Given the description of an element on the screen output the (x, y) to click on. 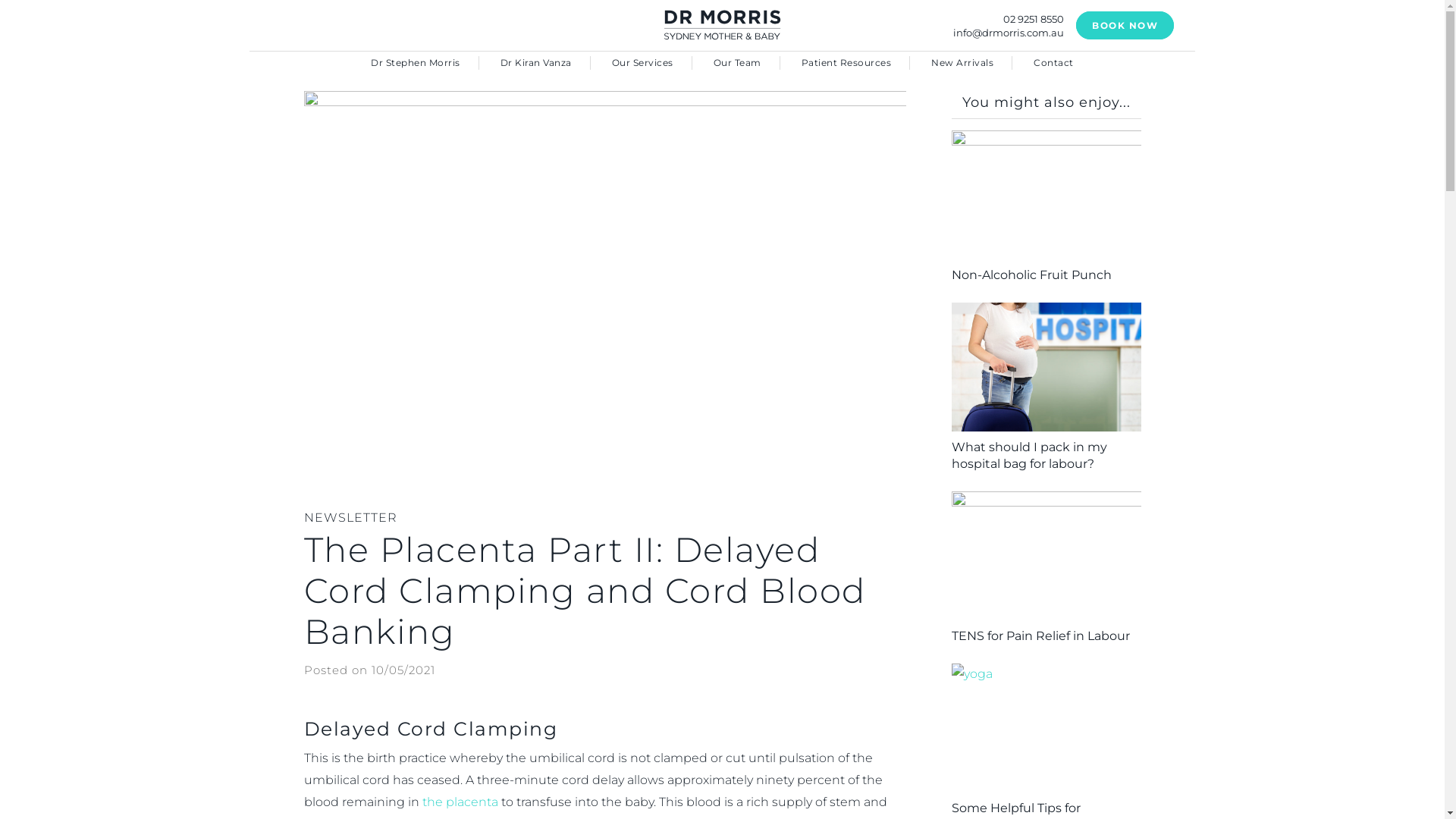
TENS for Pain Relief in Labour Element type: text (1045, 635)
New Arrivals Element type: text (962, 62)
Skip to primary navigation Element type: text (0, 0)
Our Services Element type: text (642, 62)
02 9251 8550 Element type: text (1033, 18)
Dr Morris Element type: text (721, 24)
Dr Stephen Morris Element type: text (415, 62)
info@drmorris.com.au Element type: text (1008, 32)
Dr Kiran Vanza Element type: text (535, 62)
Our Team Element type: text (737, 62)
Non-Alcoholic Fruit Punch Element type: text (1045, 274)
Permanent Link to TENS for Pain Relief in Labour Element type: hover (1045, 555)
What should I pack in my hospital bag for labour? Element type: text (1045, 455)
Patient Resources Element type: text (846, 62)
BOOK NOW Element type: text (1124, 25)
Contact Element type: text (1053, 62)
the placenta Element type: text (459, 801)
Permanent Link to Non-Alcoholic Fruit Punch Element type: hover (1045, 194)
